Given the description of an element on the screen output the (x, y) to click on. 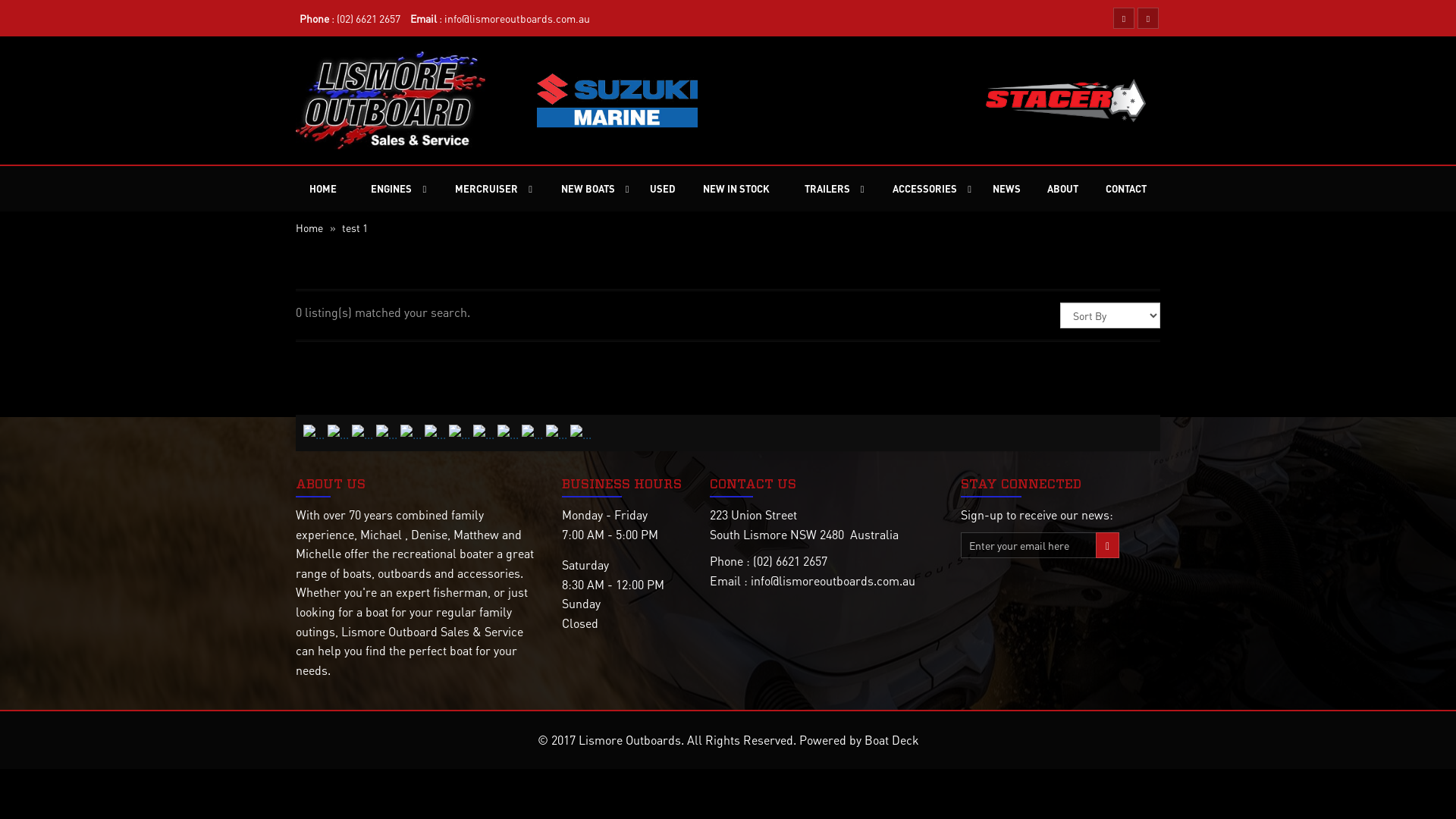
USED Element type: text (662, 188)
ABOUT Element type: text (1062, 188)
HOME Element type: text (322, 188)
NEW BOATS Element type: text (581, 188)
(02) 6621 2657 Element type: text (790, 560)
ACCESSORIES Element type: text (918, 188)
NEWS Element type: text (1006, 188)
MERCRUISER Element type: text (479, 188)
Boat Deck Element type: text (891, 739)
Lismore Outboards Element type: text (628, 739)
info@lismoreoutboards.com.au Element type: text (516, 18)
TRAILERS Element type: text (820, 188)
(02) 6621 2657 Element type: text (368, 18)
Home Element type: text (309, 227)
info@lismoreoutboards.com.au Element type: text (832, 580)
ENGINES Element type: text (385, 188)
CONTACT Element type: text (1126, 188)
NEW IN STOCK Element type: text (736, 188)
